Given the description of an element on the screen output the (x, y) to click on. 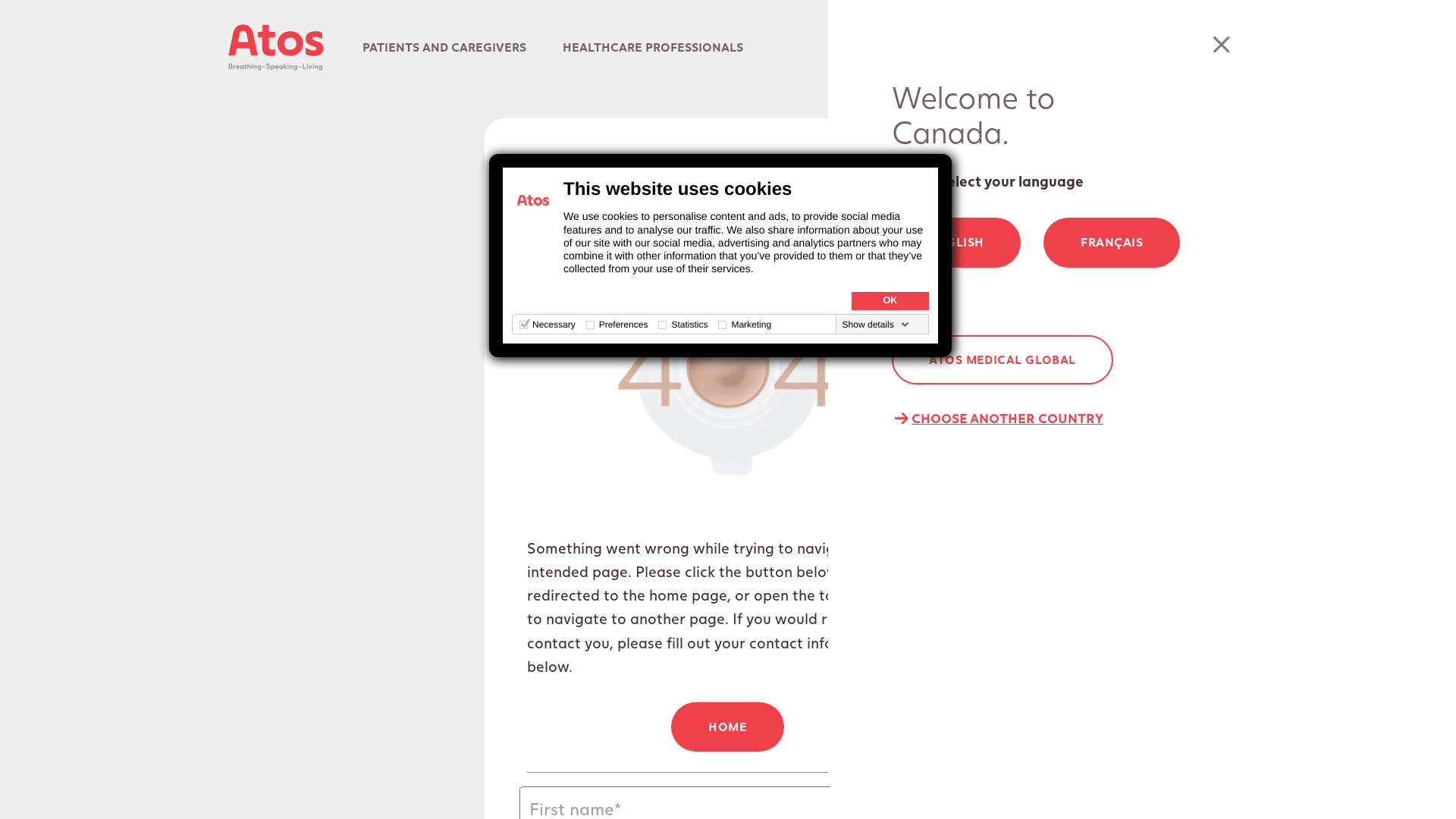
Show details Element type: text (875, 324)
HEALTHCARE PROFESSIONALS Element type: text (652, 46)
ENGLISH Element type: text (955, 242)
OK Element type: text (889, 300)
CHOOSE ANOTHER COUNTRY Element type: text (997, 417)
HOME Element type: text (727, 727)
PATIENTS AND CAREGIVERS Element type: text (444, 46)
ATOS MEDICAL GLOBAL Element type: text (1002, 360)
